Given the description of an element on the screen output the (x, y) to click on. 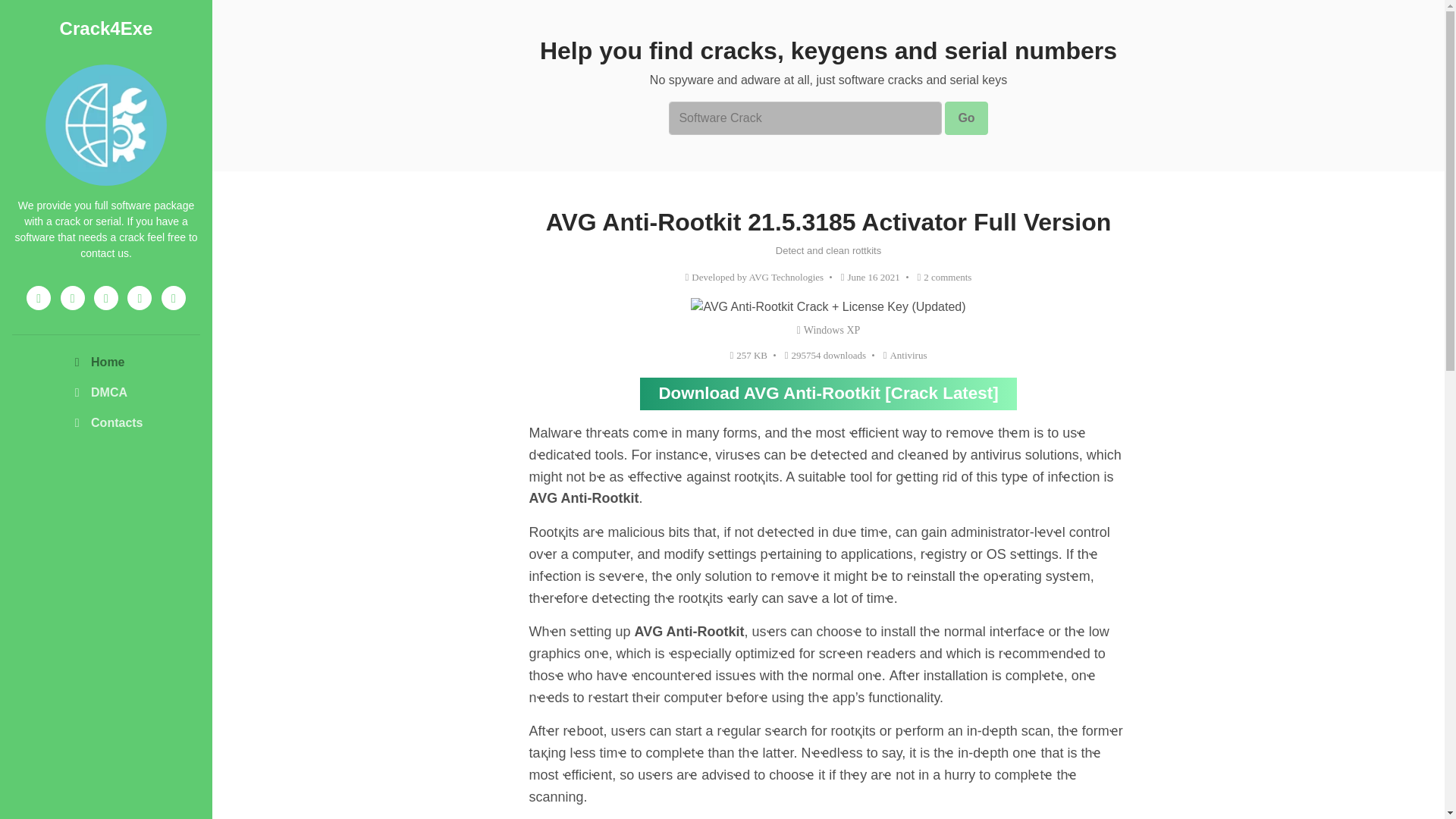
Contacts (105, 422)
DMCA (105, 392)
Category (905, 355)
Go (965, 118)
Crack4Exe (105, 28)
